Given the description of an element on the screen output the (x, y) to click on. 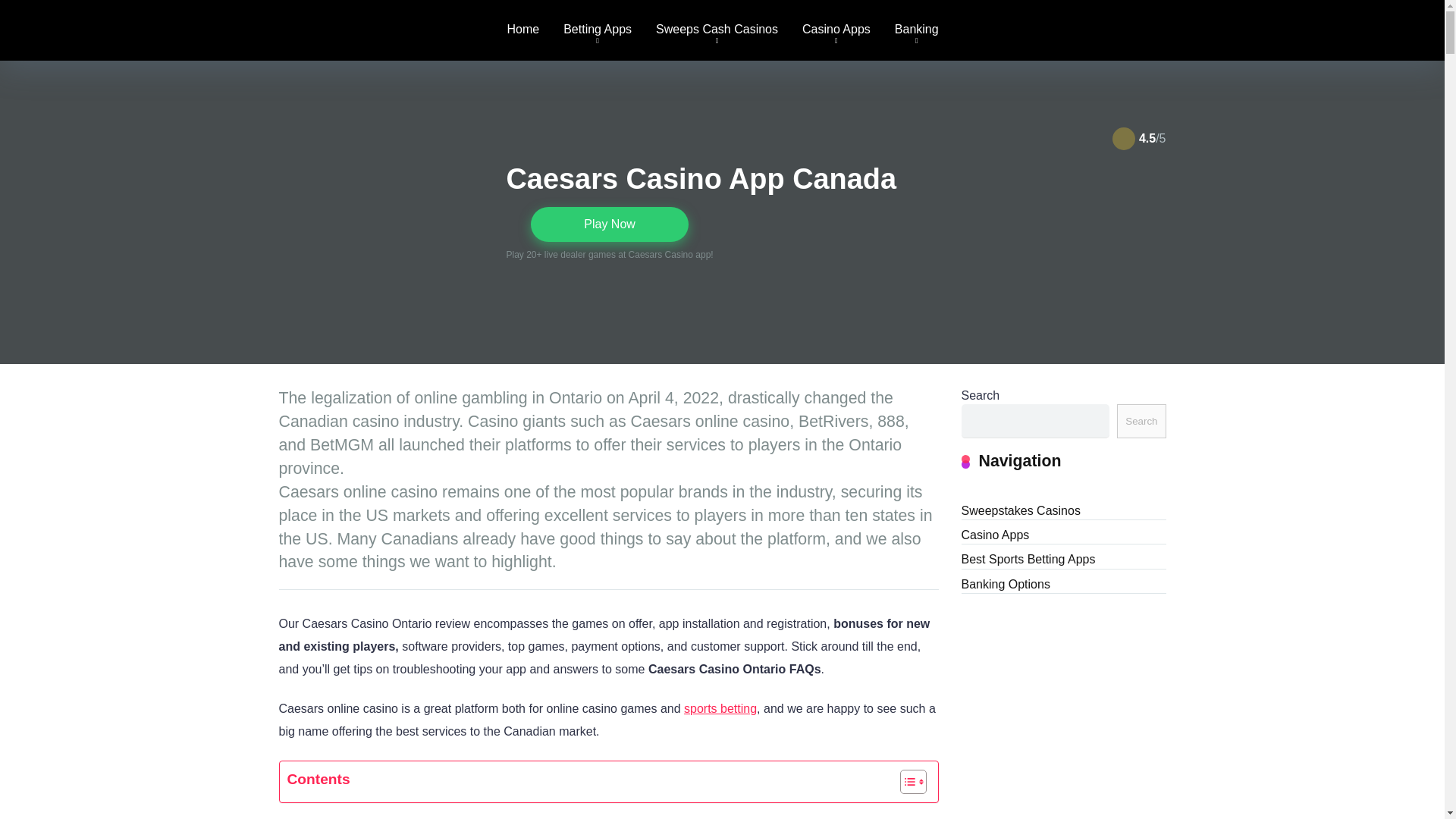
Banking (916, 30)
Casino Apps (836, 30)
Play Now (609, 224)
Play Now (609, 224)
Betting Apps (597, 30)
Sweeps Cash Casinos (716, 30)
Home (523, 30)
Gamble Canada (322, 24)
sports betting (720, 707)
